Given the description of an element on the screen output the (x, y) to click on. 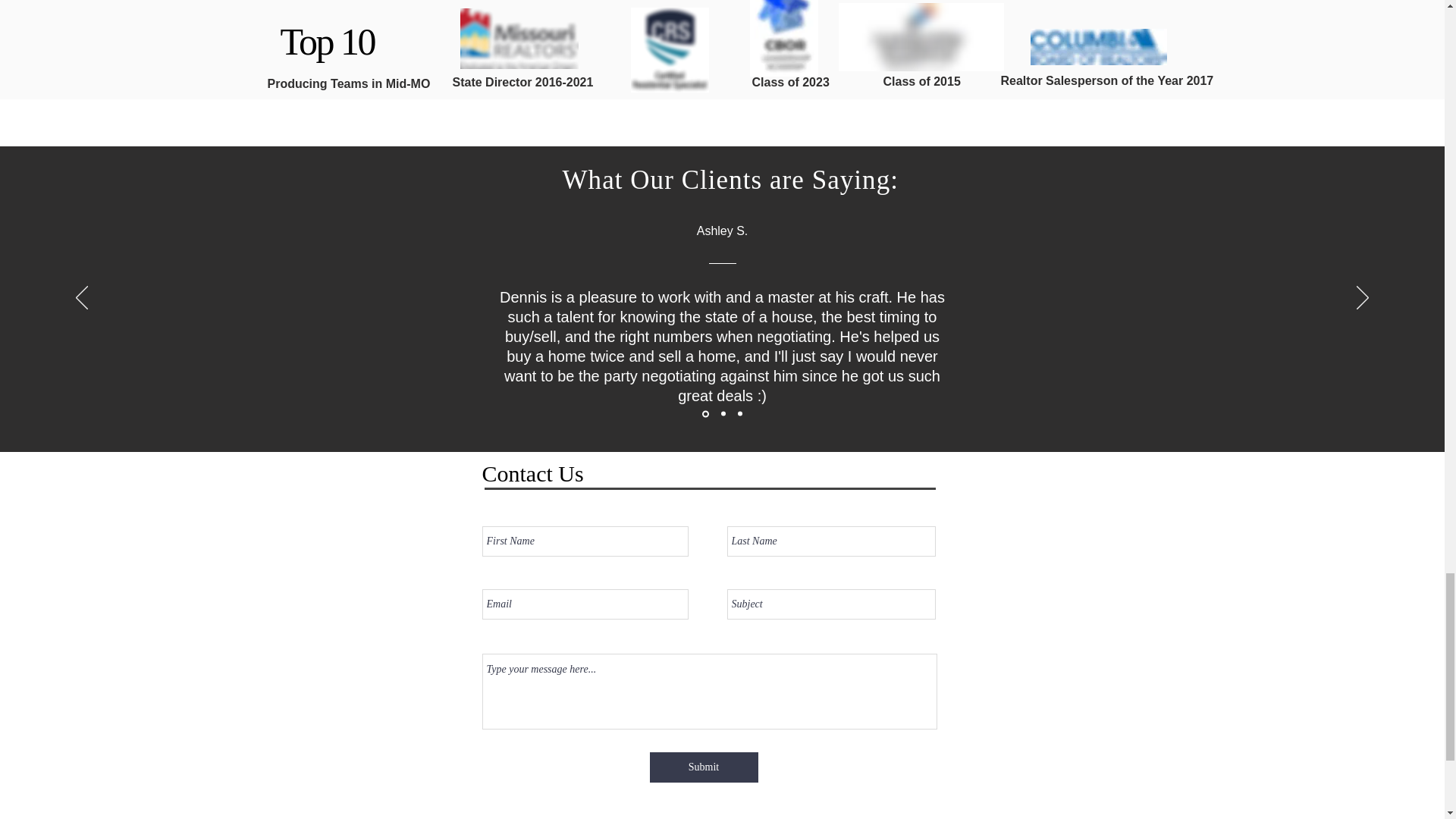
Submit (703, 767)
CRS-logo-2018.png (669, 49)
Missouri-REALTORS--LOGO-RGB.png (519, 38)
